Given the description of an element on the screen output the (x, y) to click on. 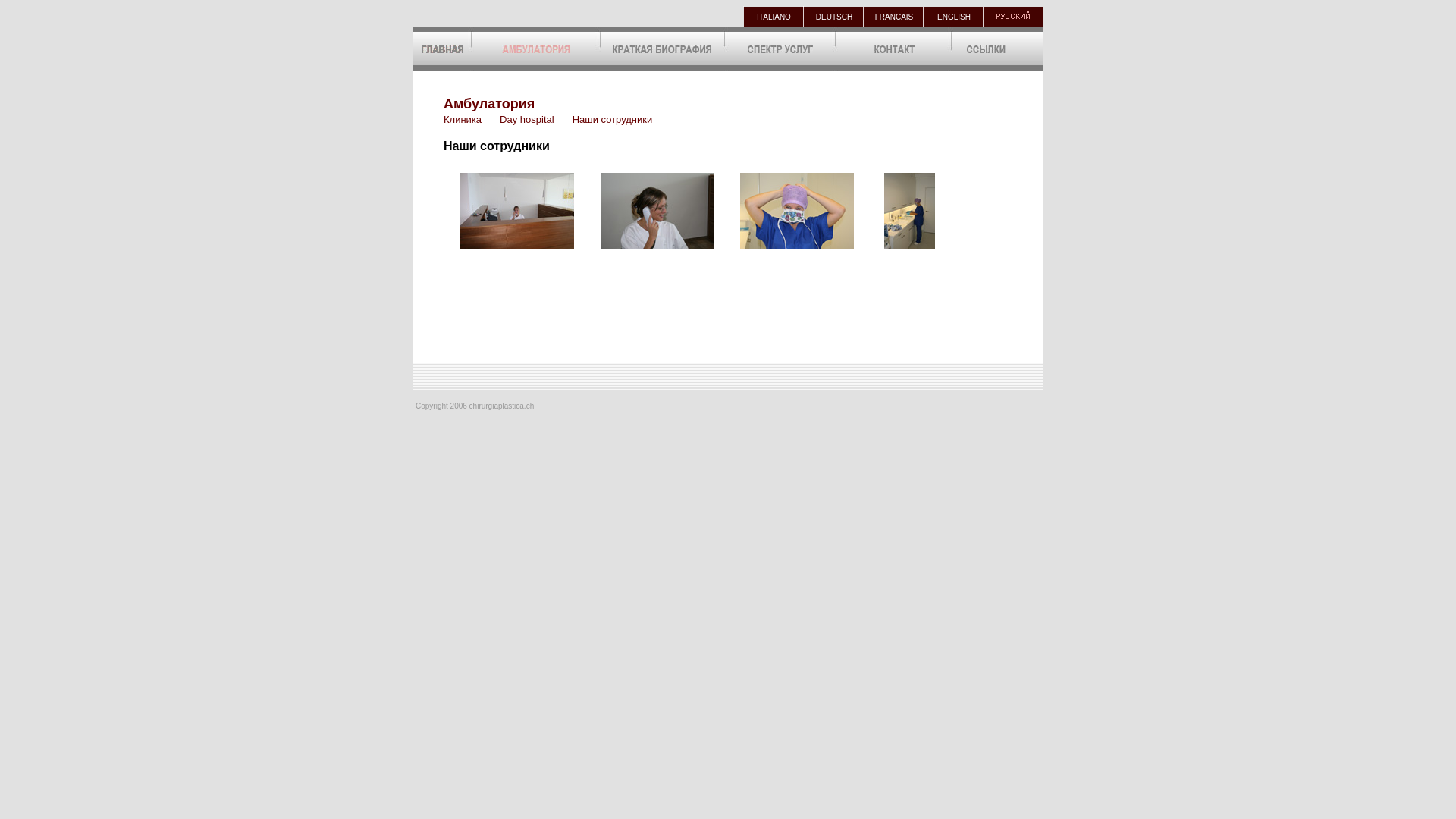
DEUTSCH Element type: text (833, 16)
ENGLISH Element type: text (953, 16)
Day hospital Element type: text (526, 118)
ITALIANO Element type: text (773, 16)
FRANCAIS Element type: text (894, 16)
